Given the description of an element on the screen output the (x, y) to click on. 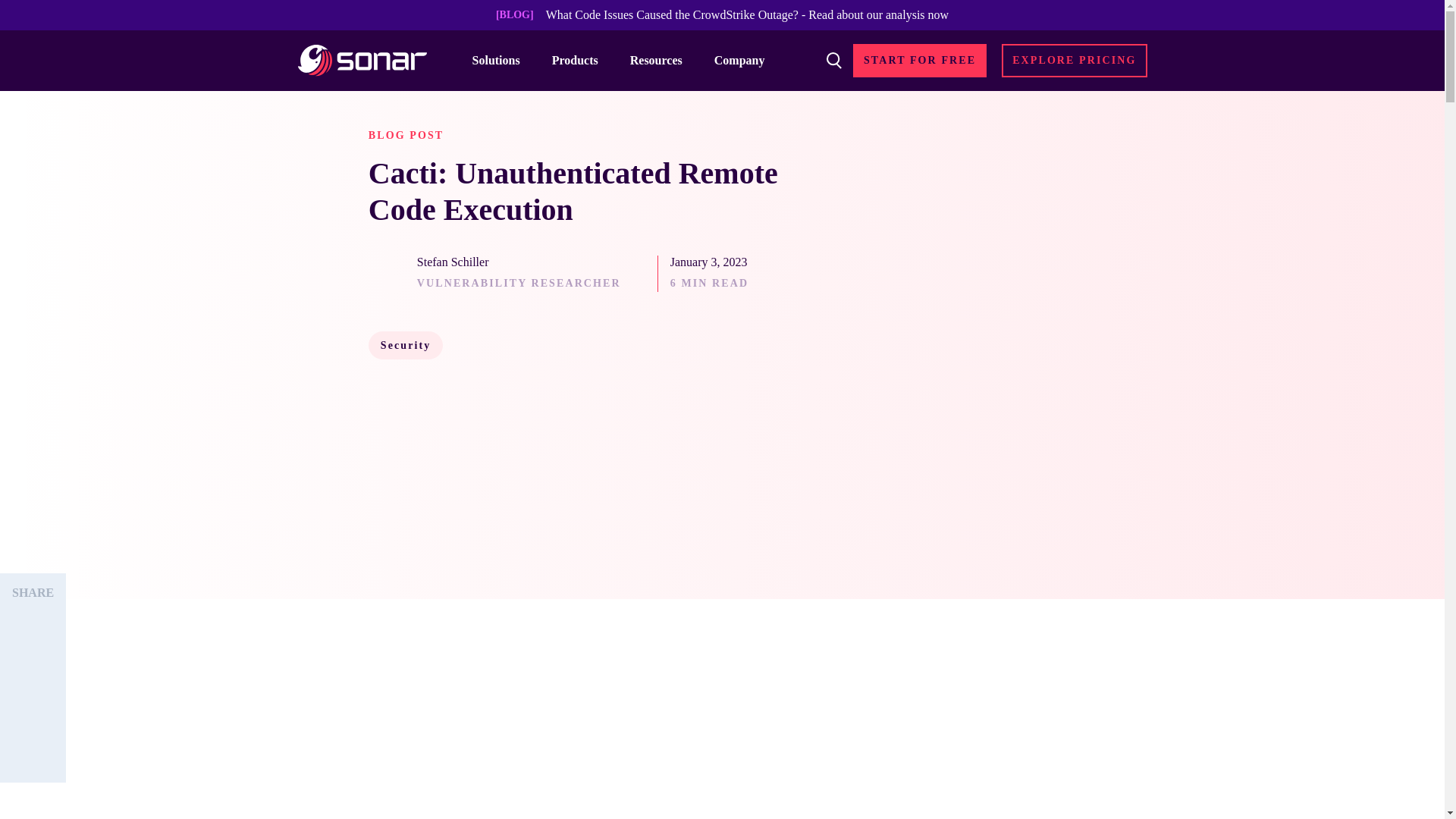
Products (581, 60)
Home (361, 60)
Solutions (502, 60)
Resources (662, 60)
